Given the description of an element on the screen output the (x, y) to click on. 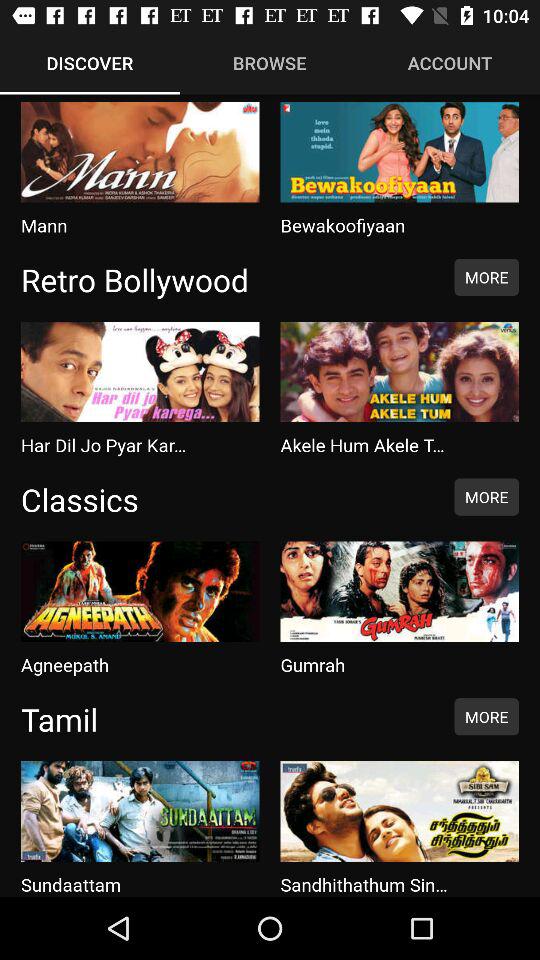
choose icon to the left of more (227, 499)
